Given the description of an element on the screen output the (x, y) to click on. 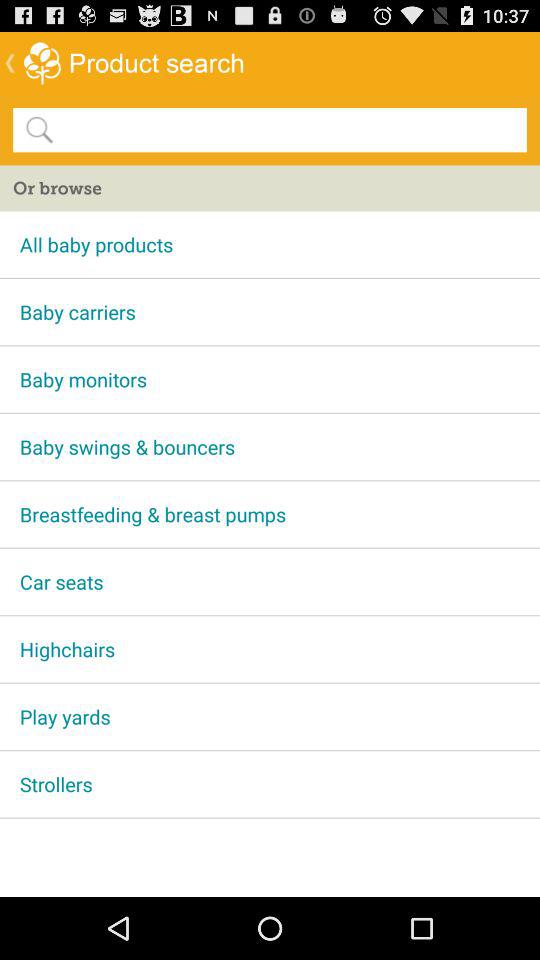
choose the baby monitors (270, 379)
